Given the description of an element on the screen output the (x, y) to click on. 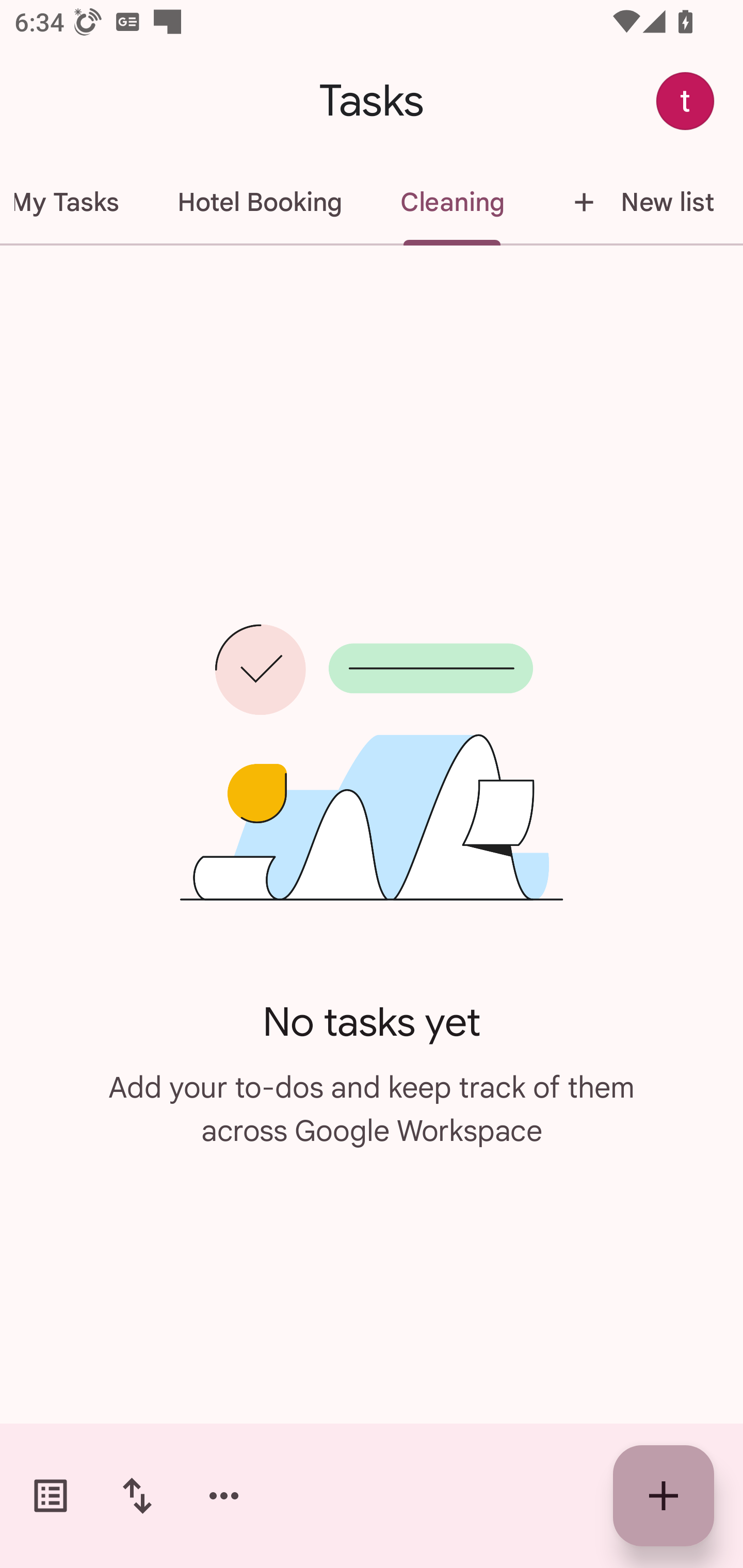
My Tasks (73, 202)
Hotel Booking (258, 202)
New list (638, 202)
Switch task lists (50, 1495)
Create new task (663, 1495)
Change sort order (136, 1495)
More options (223, 1495)
